Given the description of an element on the screen output the (x, y) to click on. 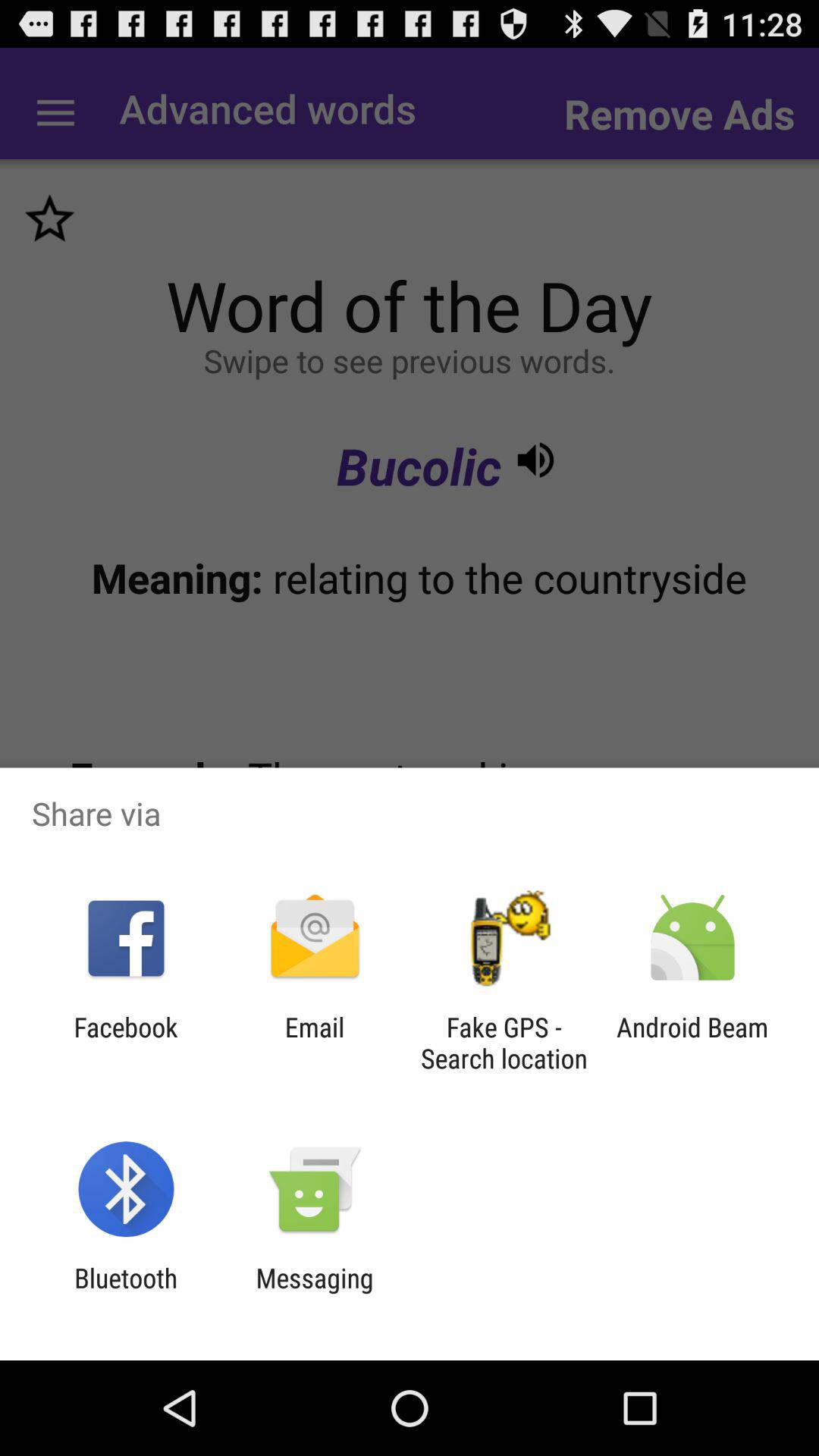
press icon next to facebook item (314, 1042)
